Given the description of an element on the screen output the (x, y) to click on. 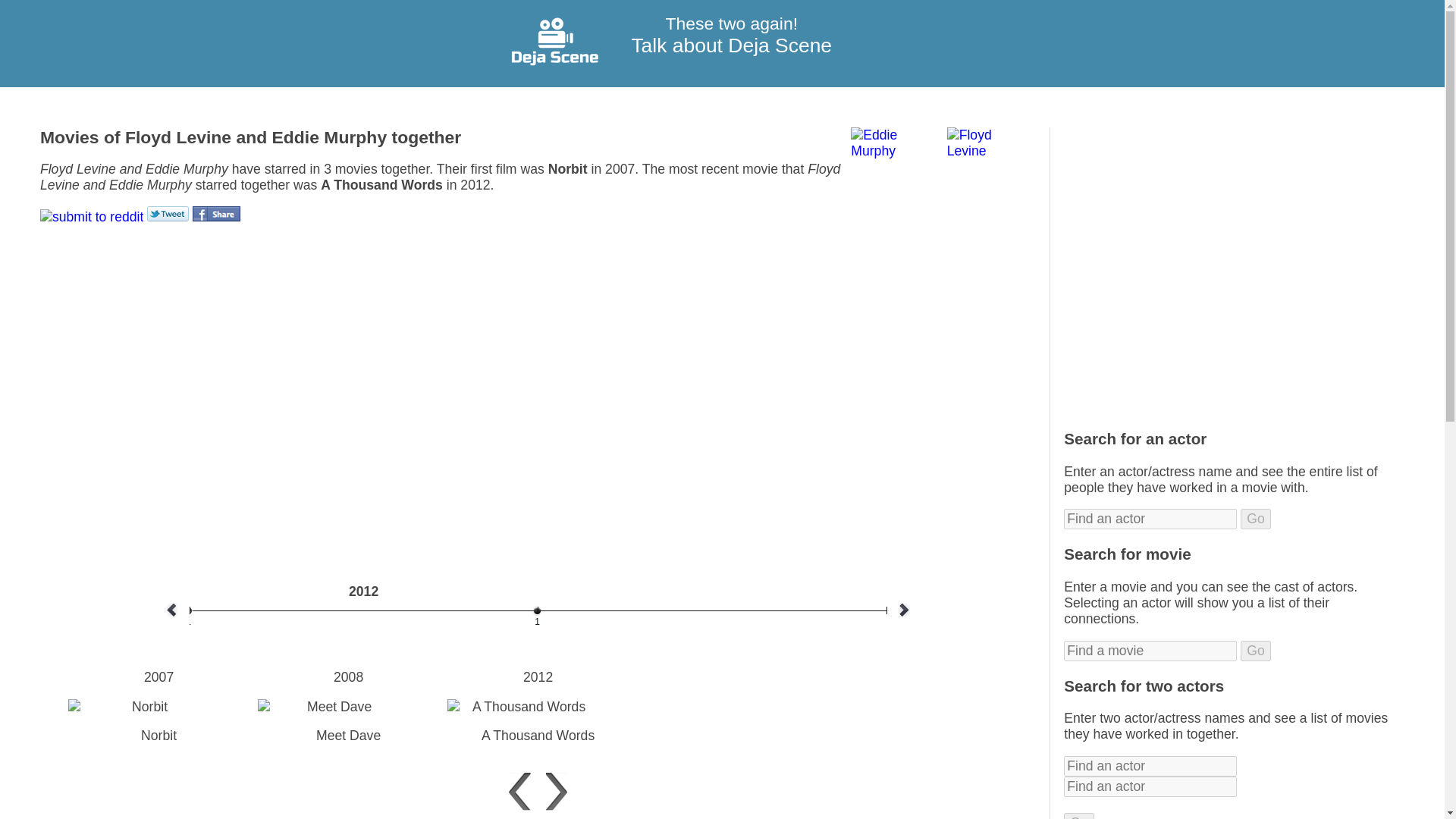
Go (1255, 650)
Go (1255, 650)
Advertisement (1227, 262)
Share on Facebook (216, 213)
Go (1079, 816)
Go (1255, 518)
Tweet this (168, 213)
Go (1079, 816)
Go (1255, 518)
